Given the description of an element on the screen output the (x, y) to click on. 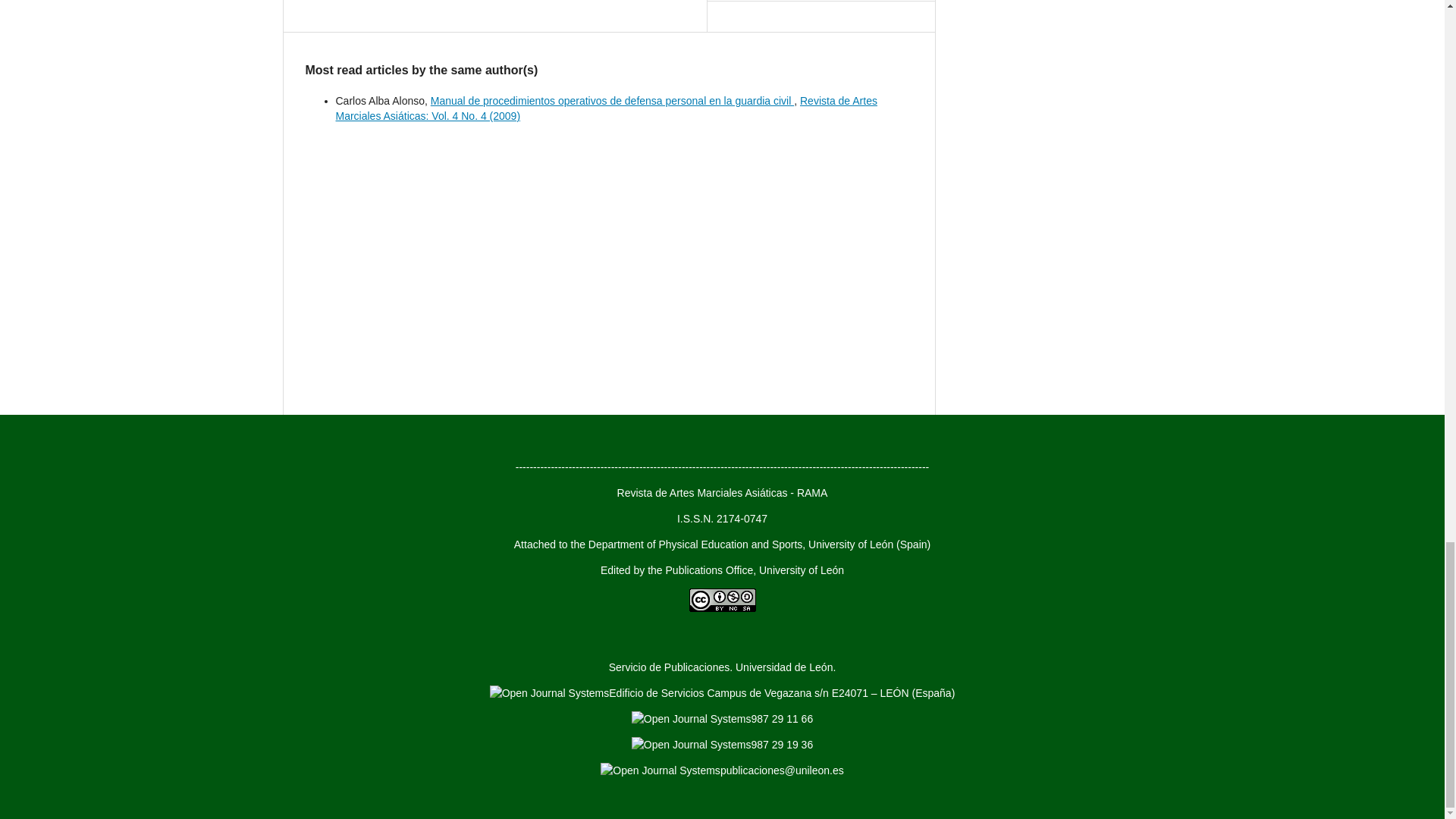
Open Journal Systems (691, 744)
Open Journal Systems (691, 718)
Open Journal Systems (549, 693)
Open Journal Systems (659, 770)
